Given the description of an element on the screen output the (x, y) to click on. 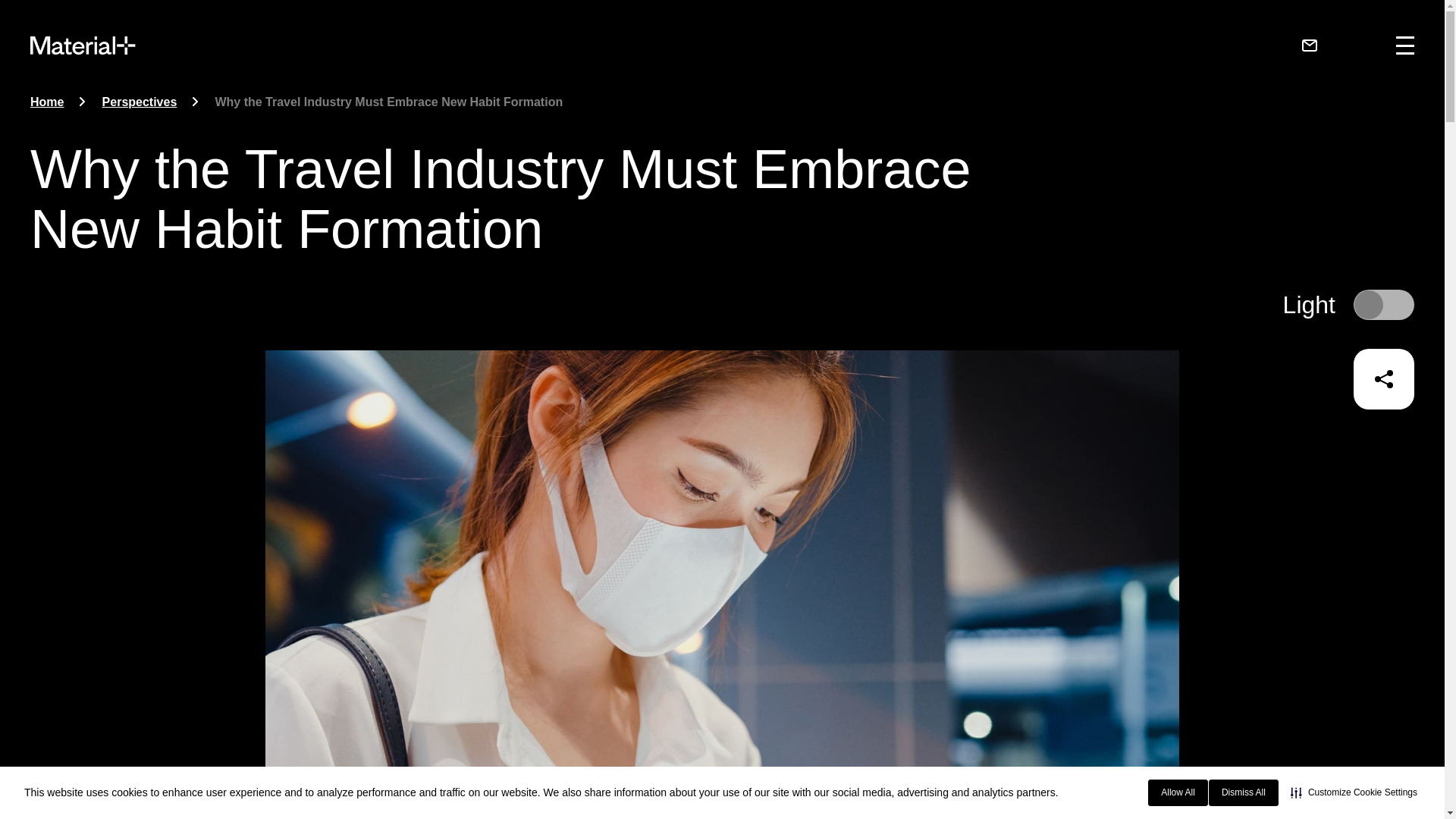
Perspectives (139, 101)
Main Menu (1398, 45)
Search (1350, 45)
Home (47, 101)
Dismiss All (1243, 792)
Allow All (1178, 792)
Customize Cookie Settings (1354, 792)
